Given the description of an element on the screen output the (x, y) to click on. 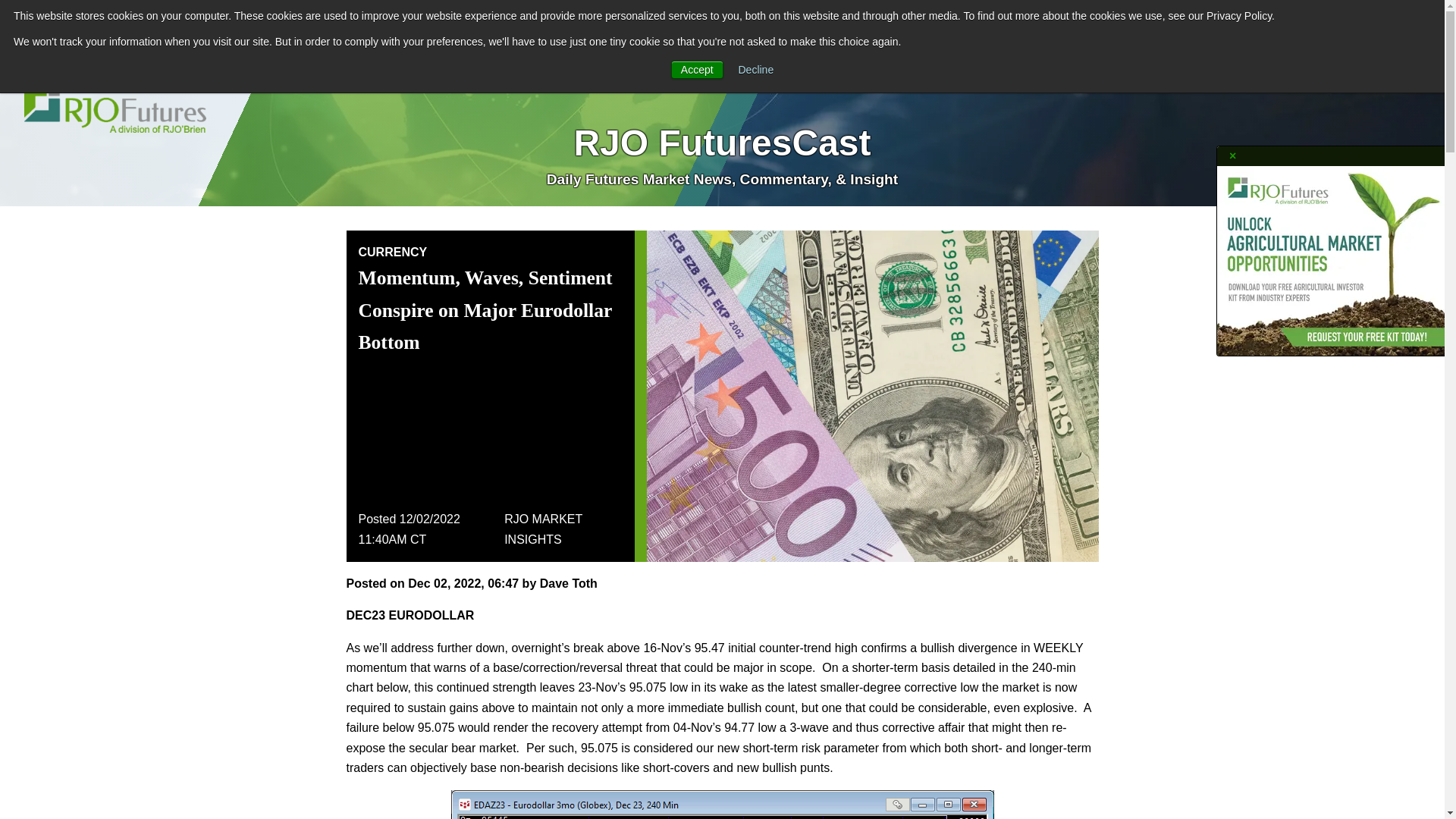
PLATFORMS (731, 24)
MARKETS (795, 24)
SERVICES (668, 24)
Accept (697, 69)
Decline (756, 69)
EDUCATION (858, 24)
OPEN ACCOUNT (132, 25)
LOG IN (33, 25)
